Given the description of an element on the screen output the (x, y) to click on. 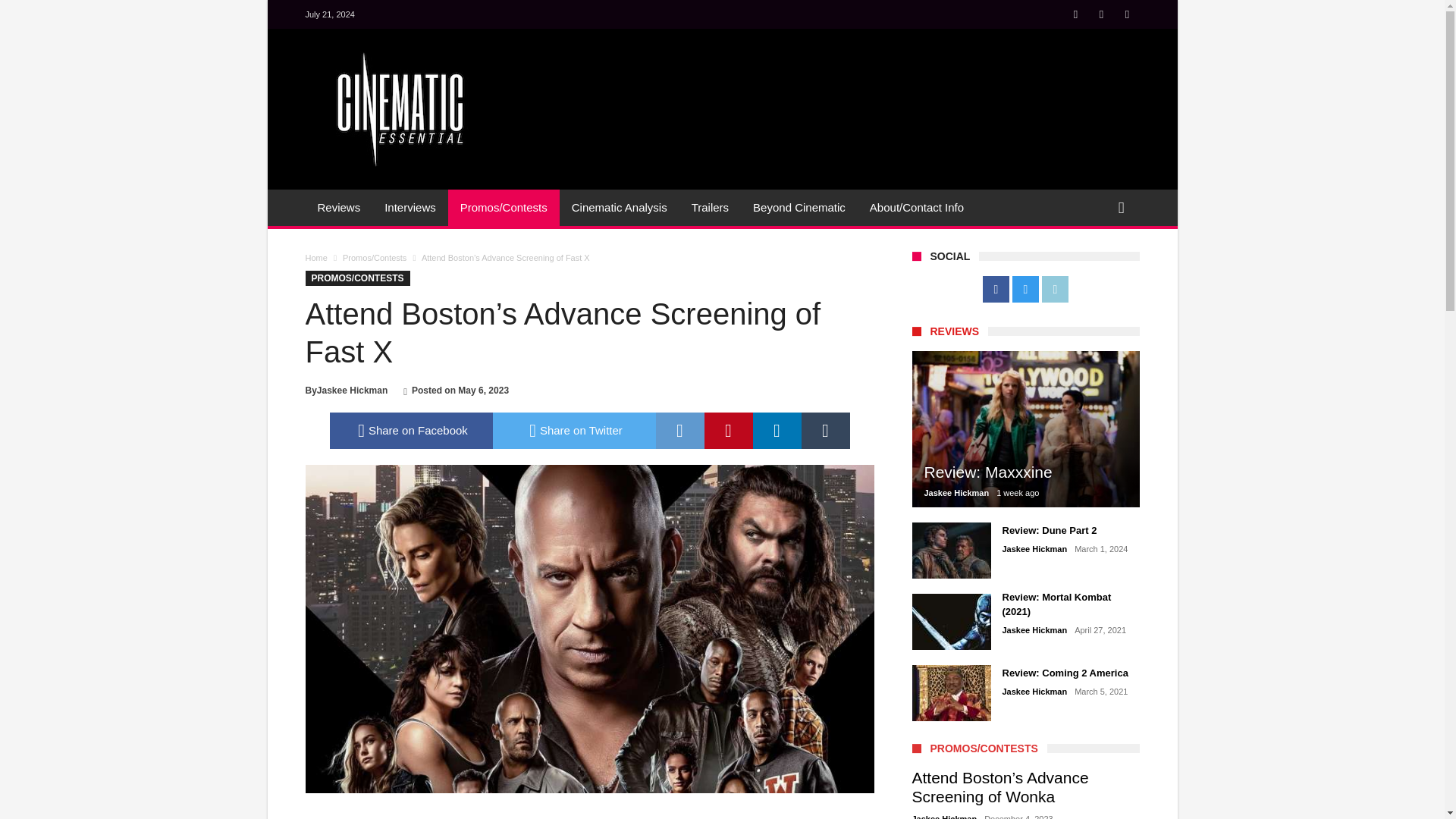
twitter (574, 430)
Trailers (710, 207)
Posts by Jaskee Hickman (352, 390)
Cinematic Analysis (619, 207)
Advertisement (862, 85)
Twitter (1101, 15)
Share on Tumblr (824, 430)
Home (315, 257)
Share on Pinterest (727, 430)
Beyond Cinematic (799, 207)
LinkedIn (1126, 15)
Share on Linkedin (776, 430)
Reviews (338, 207)
Share on Facebook (410, 430)
linkedin (776, 430)
